Given the description of an element on the screen output the (x, y) to click on. 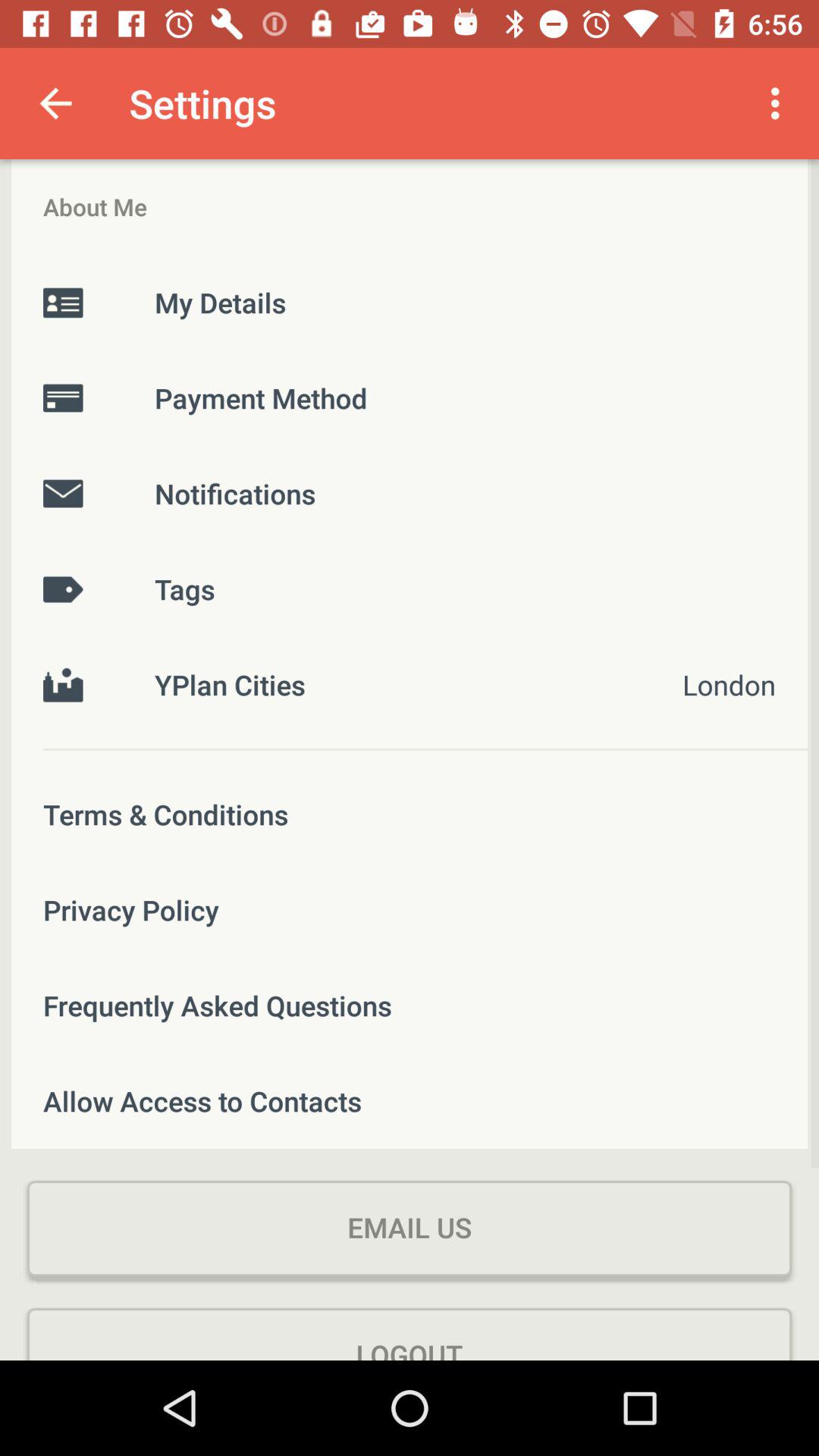
turn on the my details icon (409, 302)
